Given the description of an element on the screen output the (x, y) to click on. 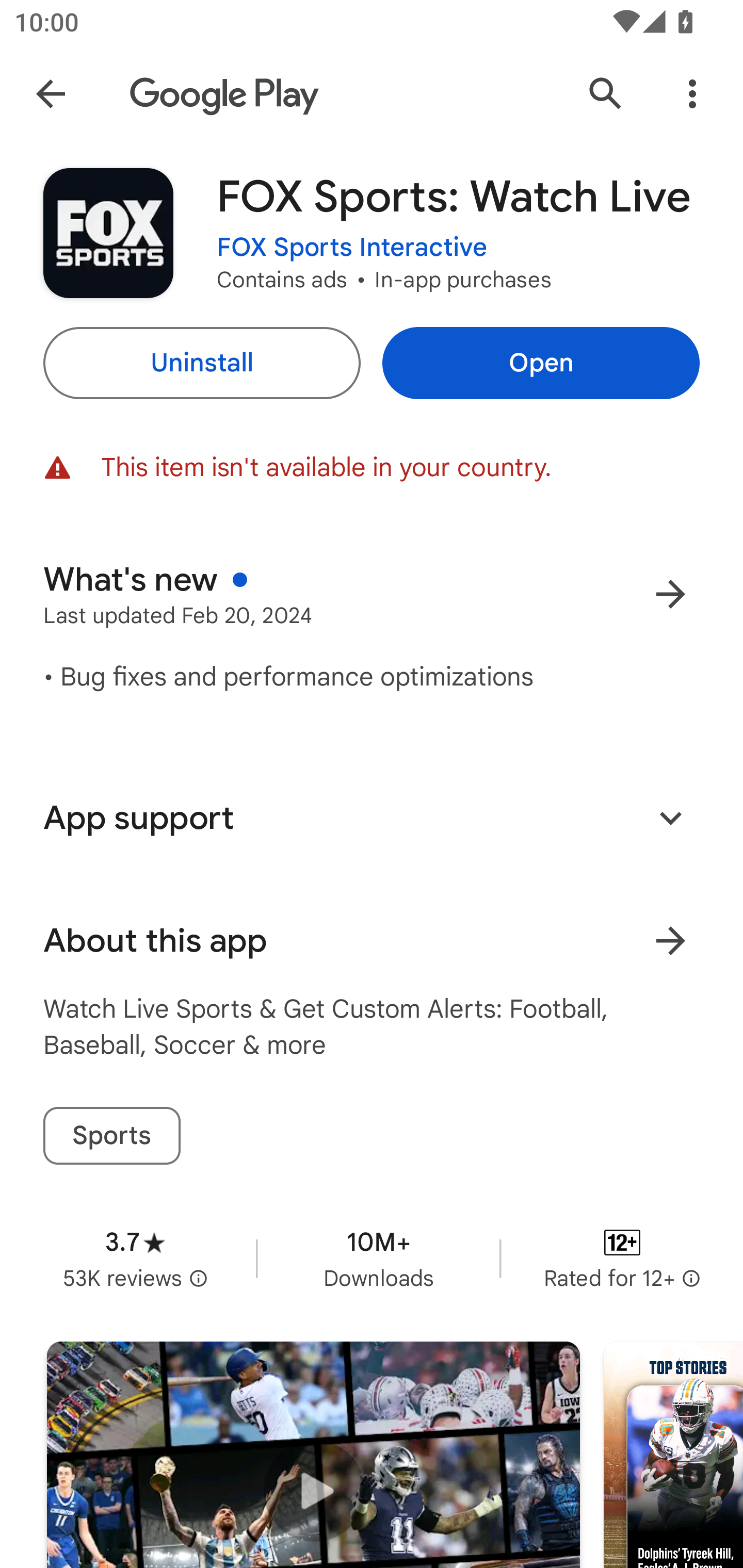
Navigate up (50, 93)
Search Google Play (605, 93)
More Options (692, 93)
FOX Sports Interactive (351, 247)
Uninstall (201, 362)
Open (540, 362)
More results for What's new (670, 594)
App support Expand (371, 817)
Expand (670, 817)
About this app Learn more About this app (371, 940)
Learn more About this app (670, 940)
Sports tag (111, 1135)
Average rating 3.7 stars in 53 thousand reviews (135, 1258)
Content rating Rated for 12+ (622, 1258)
Play trailer for "FOX Sports: Watch Live" (313, 1455)
